Given the description of an element on the screen output the (x, y) to click on. 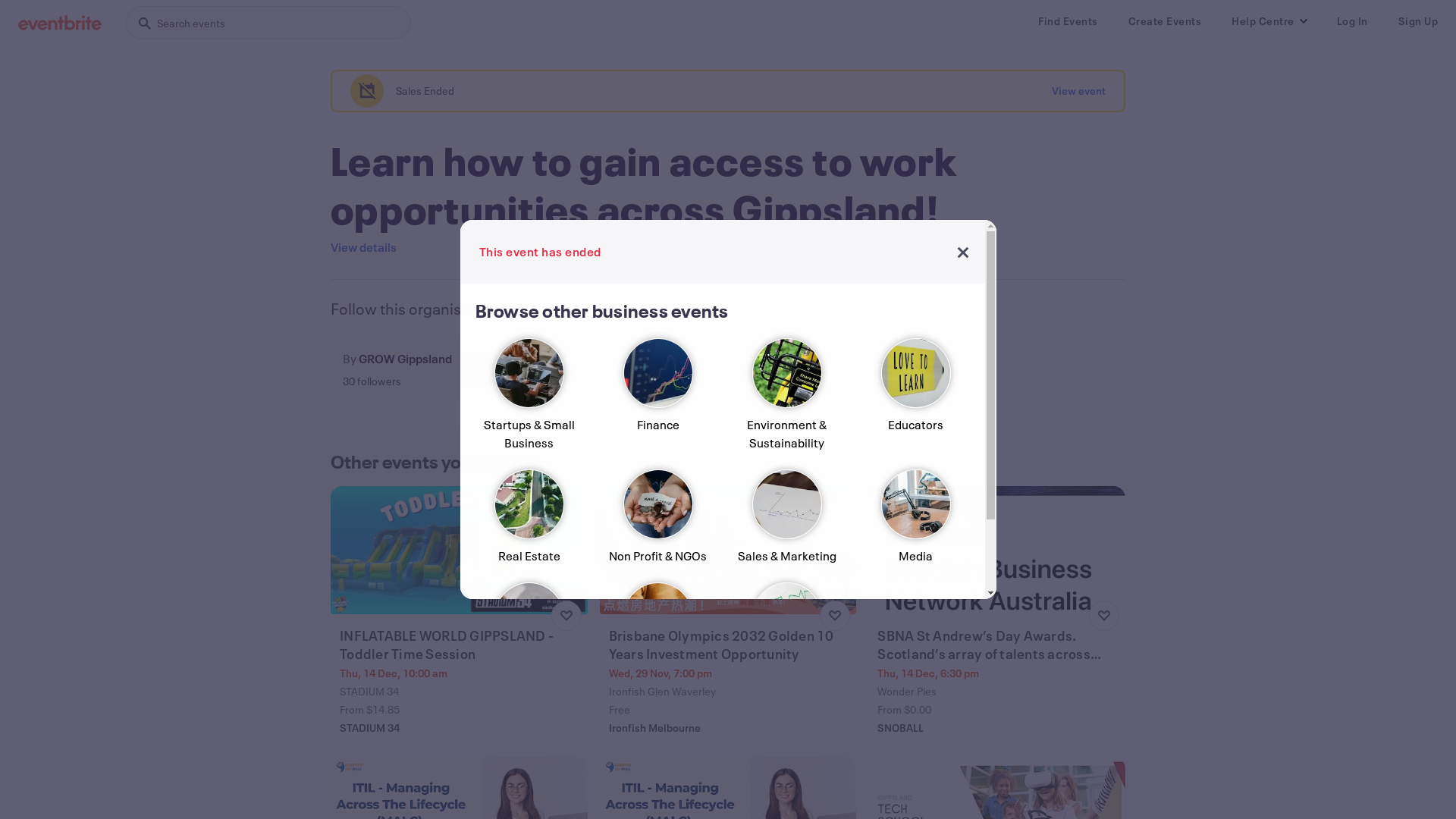
Eventbrite Element type: hover (59, 22)
Environment & Sustainability Element type: text (785, 400)
Log In Element type: text (1351, 21)
Sales & Marketing Element type: text (785, 522)
Search events Element type: text (268, 22)
Educators Element type: text (914, 400)
Find Events Element type: text (1068, 21)
Startups & Small Business Element type: text (528, 400)
Finance Element type: text (657, 400)
View details Element type: text (363, 246)
Create Events Element type: text (1165, 21)
Non Profit & NGOs Element type: text (657, 522)
Investment Element type: text (785, 635)
View event Element type: text (1078, 90)
Follow Element type: text (503, 368)
Design Element type: text (528, 635)
INFLATABLE WORLD GIPPSLAND - Toddler Time Session Element type: text (460, 644)
Career Element type: text (657, 635)
Sign Up Element type: text (1418, 21)
Real Estate Element type: text (528, 522)
Media Element type: text (914, 522)
